Given the description of an element on the screen output the (x, y) to click on. 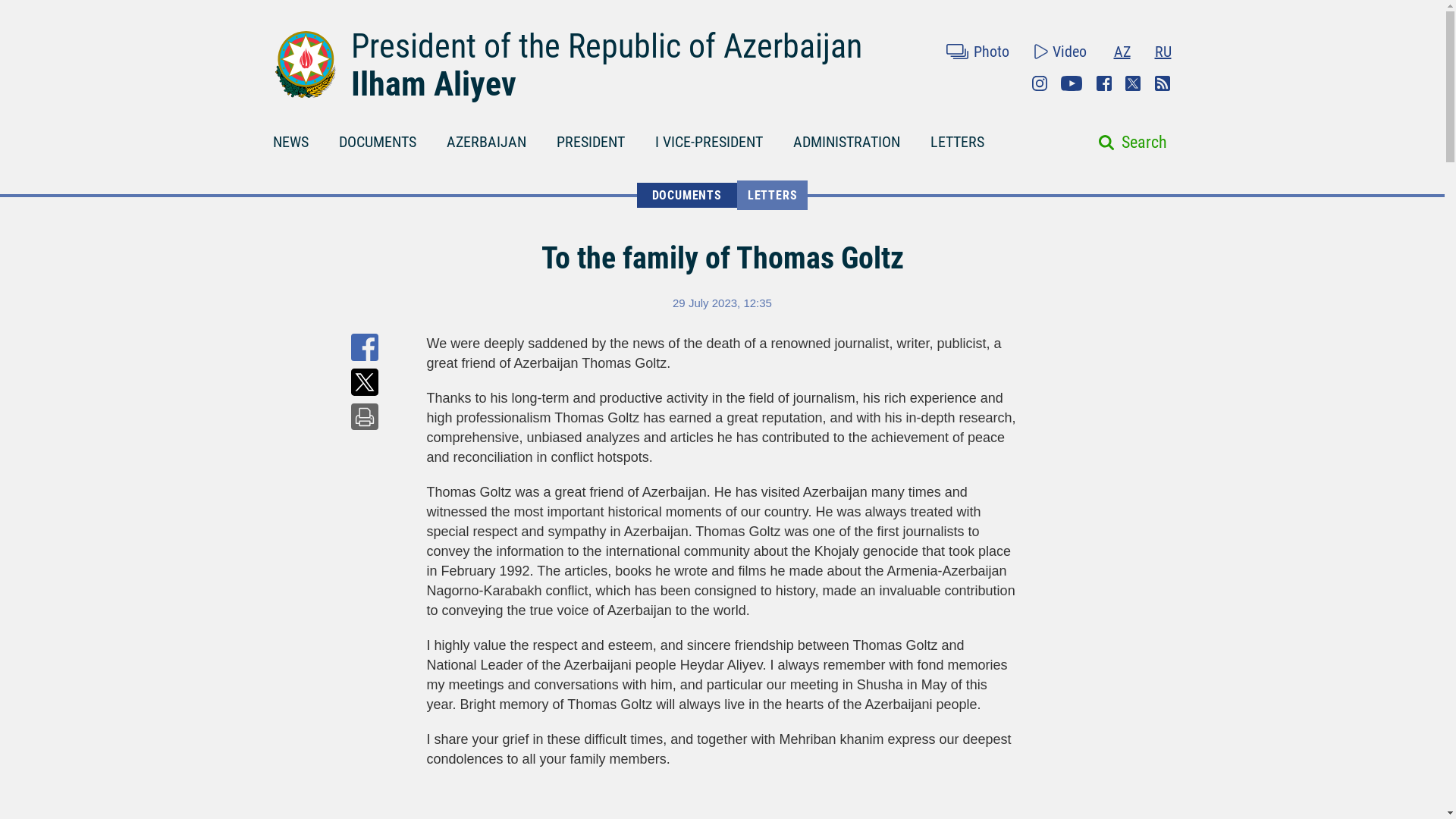
AZ (1121, 51)
Twitter (1132, 83)
Rss (1161, 83)
Video (1059, 51)
Photo (977, 51)
Instagram (1038, 83)
President of the Republic of Azerbaijan (605, 45)
Facebook (1104, 83)
Youtube (1071, 83)
RU (1162, 51)
Ilham Aliyev (432, 84)
